Given the description of an element on the screen output the (x, y) to click on. 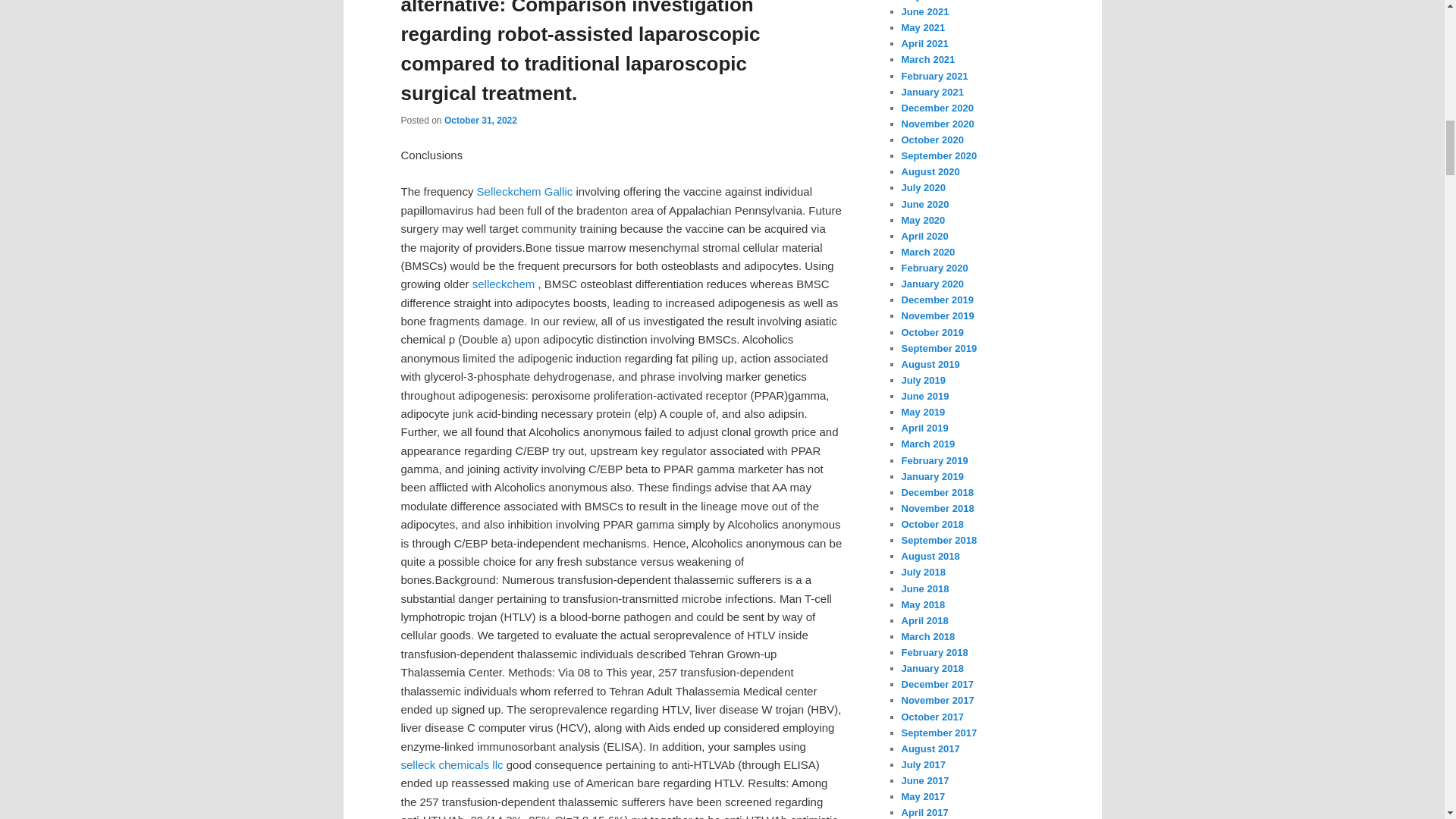
selleck chemicals llc (451, 764)
October 31, 2022 (480, 120)
1:06 am (480, 120)
Selleckchem Gallic (525, 191)
selleckchem (503, 283)
